Given the description of an element on the screen output the (x, y) to click on. 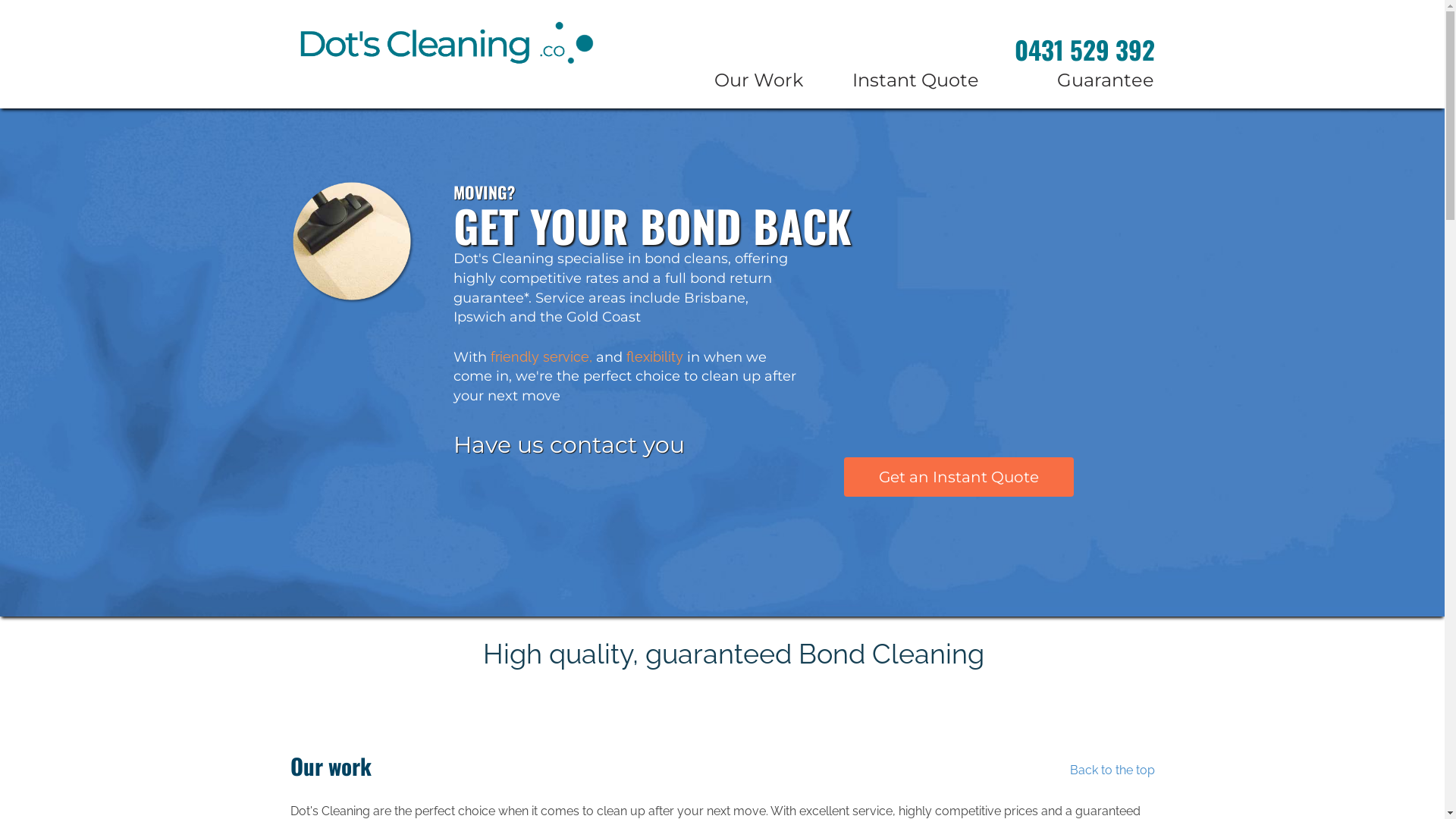
Our Work Element type: text (726, 80)
Get an Instant Quote Element type: text (958, 477)
Back to the top Element type: text (1111, 770)
Back to the top Element type: text (338, 751)
Instant Quote Element type: text (902, 80)
Instant quote Element type: text (553, 751)
Terms & Conditions Element type: text (573, 771)
Sitemap Element type: text (760, 751)
Our work Element type: text (318, 771)
Guarantee Element type: text (1077, 80)
Links Element type: text (751, 771)
